Given the description of an element on the screen output the (x, y) to click on. 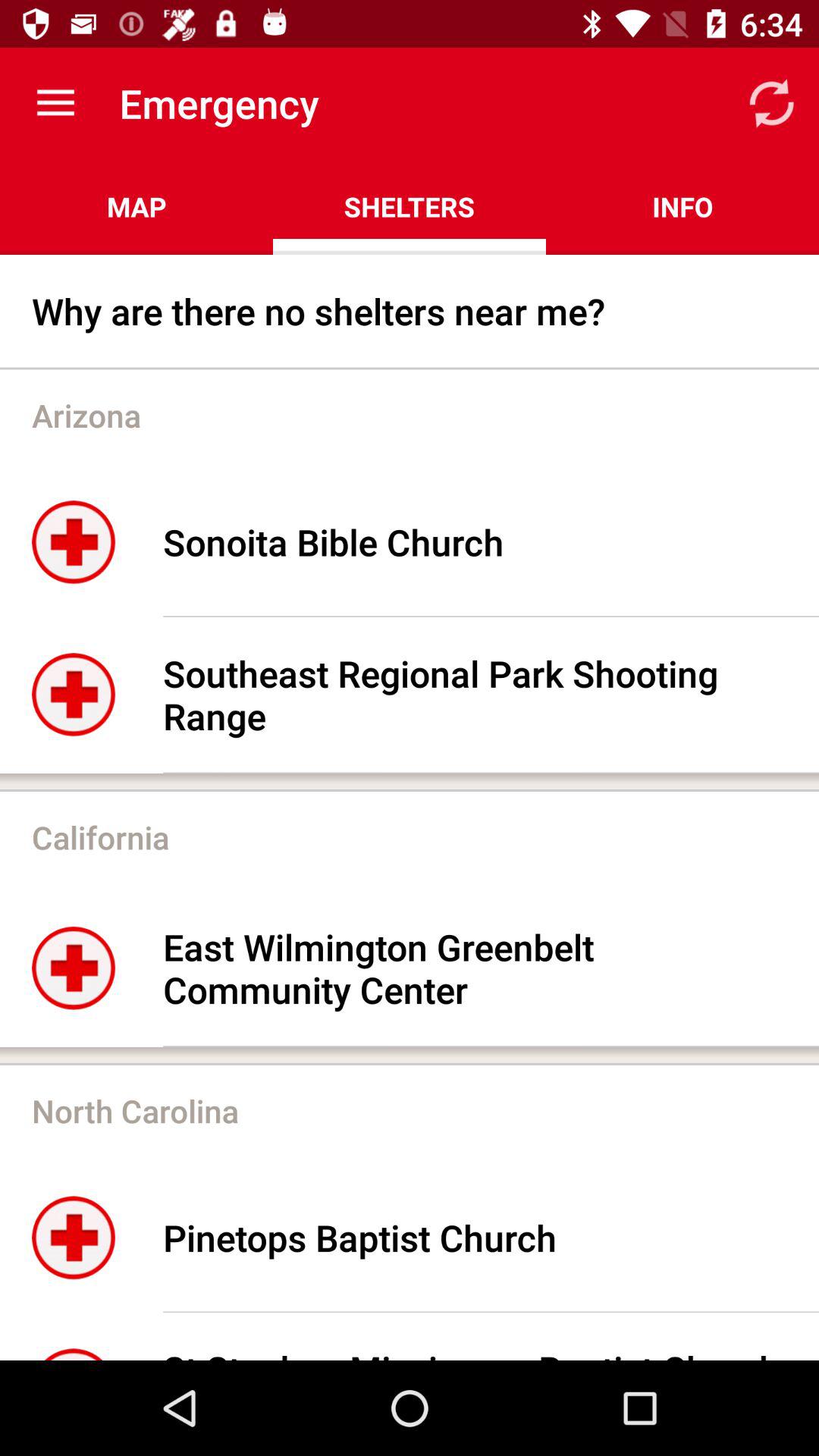
turn on the app to the left of the shelters app (136, 206)
